Given the description of an element on the screen output the (x, y) to click on. 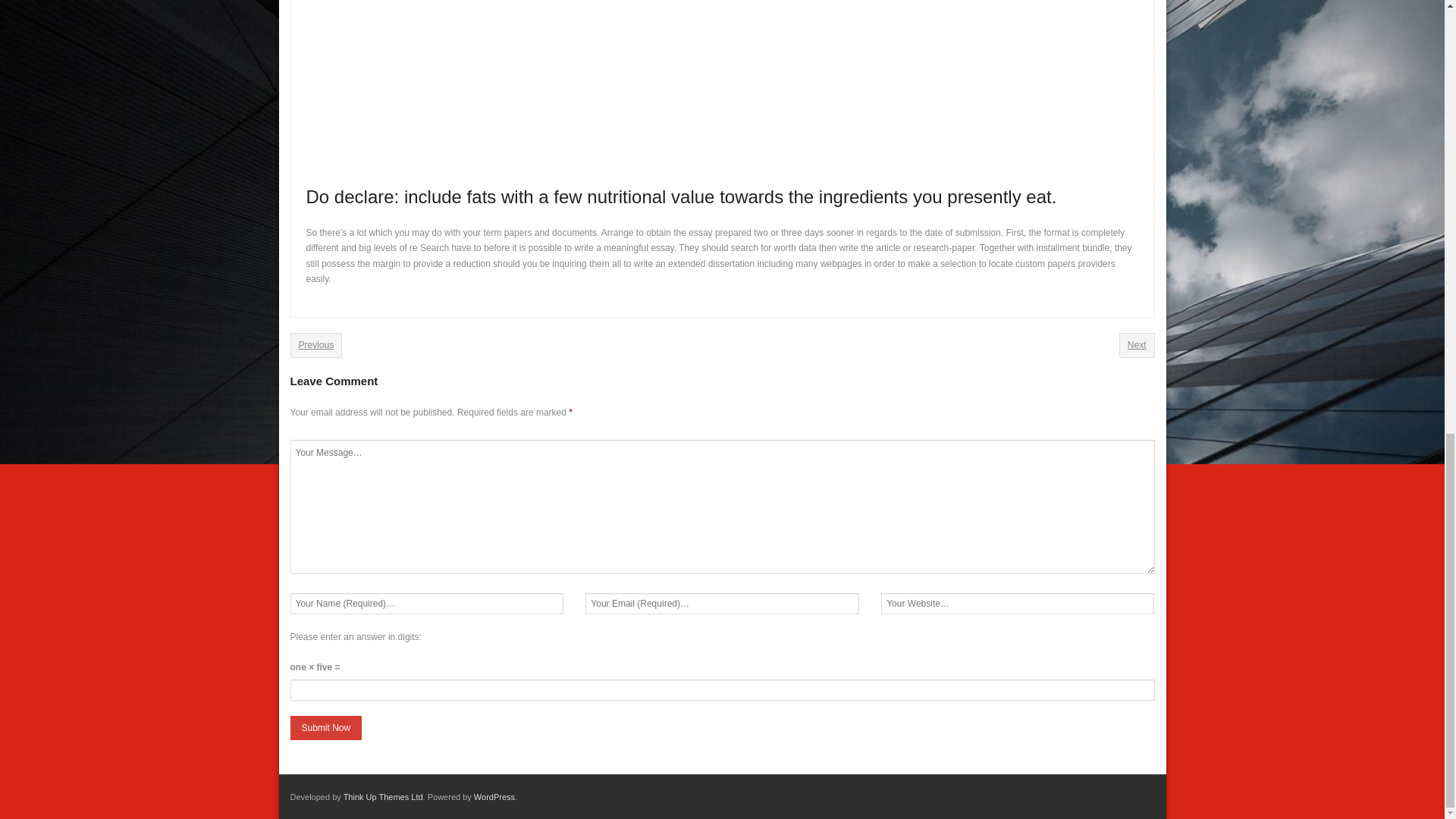
Submit Now (325, 727)
WordPress (494, 796)
Think Up Themes Ltd (383, 796)
Next (1136, 344)
Previous (315, 344)
Submit Now (325, 727)
